Given the description of an element on the screen output the (x, y) to click on. 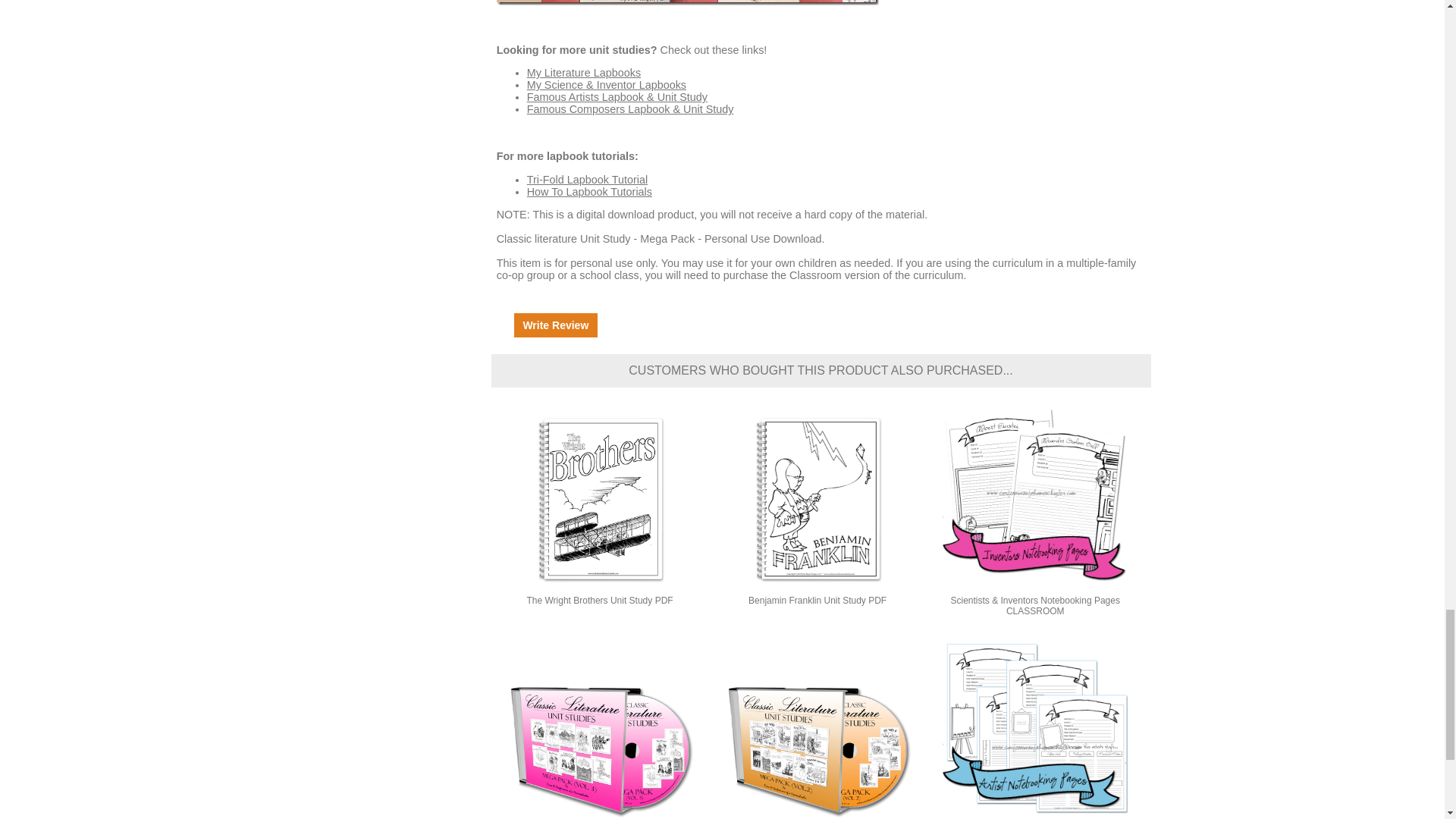
Benjamin Franklin Unit Study PDF (818, 499)
The Wright Brothers Unit Study PDF (599, 499)
Classic Literature Mega Pack Vol. 3 - CD (599, 726)
